Given the description of an element on the screen output the (x, y) to click on. 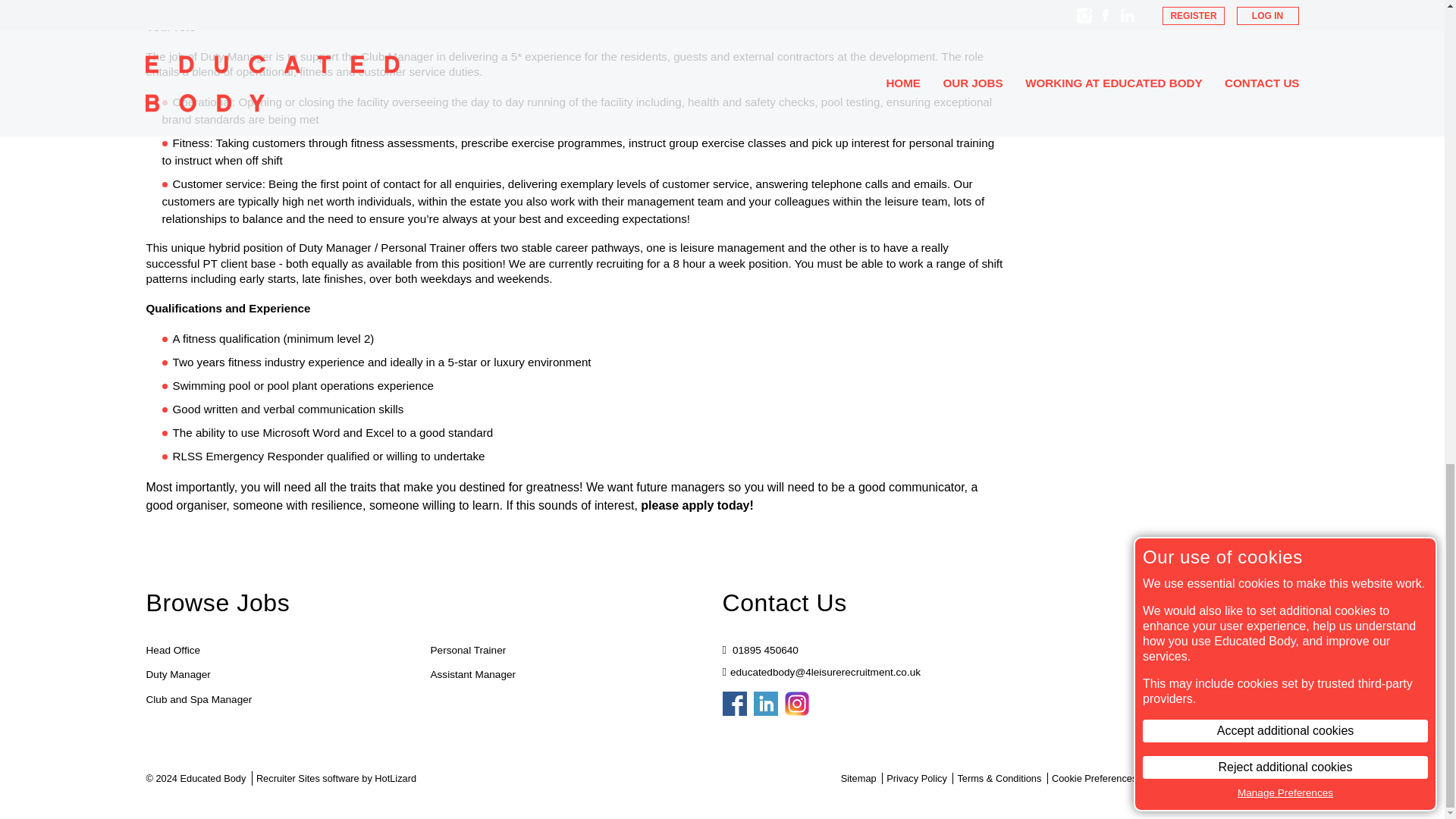
Head Office (172, 649)
Follow us on Instagram (796, 703)
Follow us on LinkedIn (765, 703)
Personal Trainer (468, 649)
Sitemap (858, 778)
Duty Manager (177, 674)
Personal Trainer (468, 649)
Recruiter Sites (288, 778)
Follow us on Facebook (733, 703)
01895 450640 (764, 650)
Assistant Manager (473, 674)
Privacy Policy (916, 778)
Duty Manager (177, 674)
Head Office (172, 649)
Club and Spa Manager (198, 699)
